Given the description of an element on the screen output the (x, y) to click on. 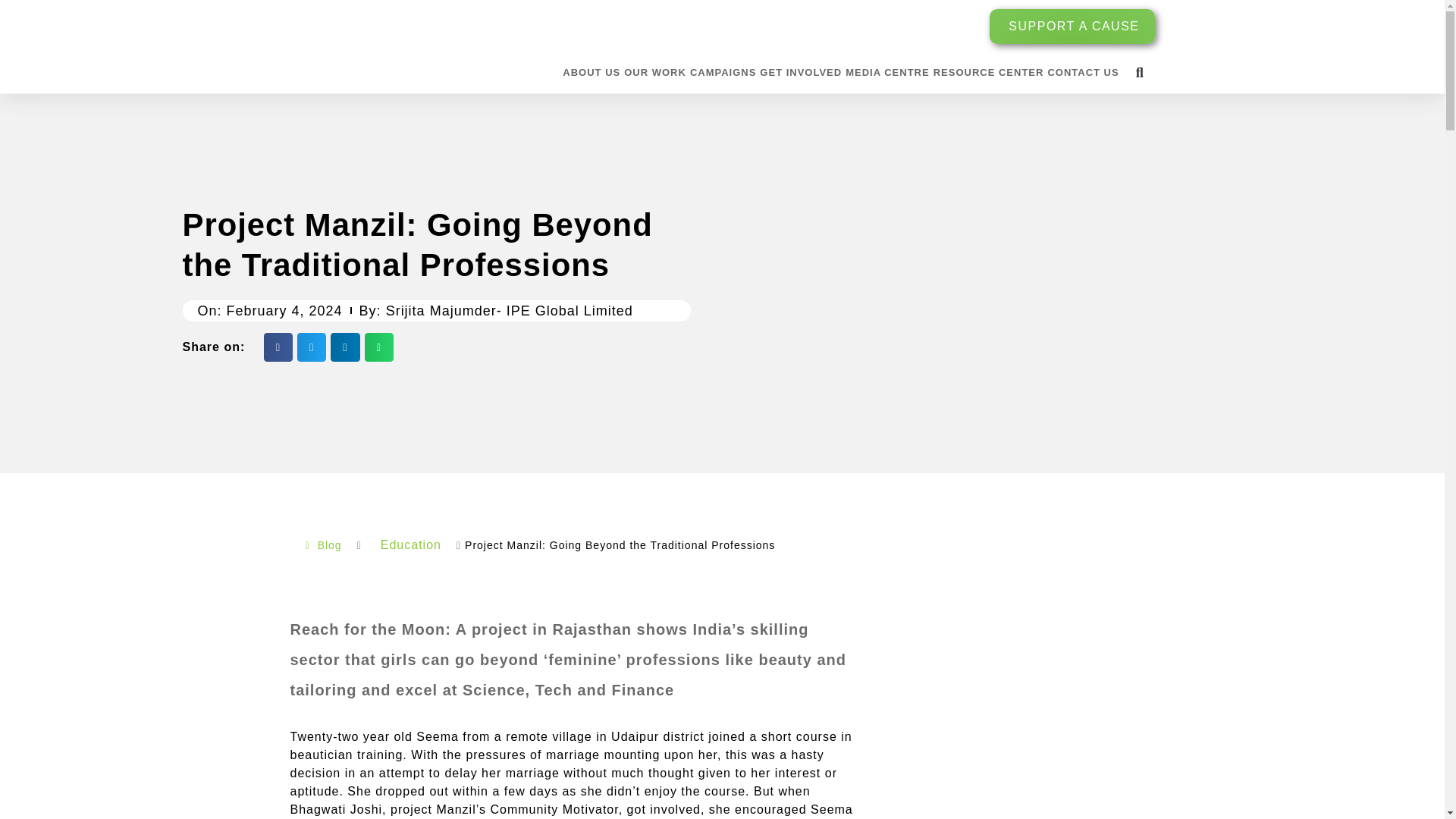
GET INVOLVED (800, 72)
SUPPORT A CAUSE (1072, 26)
OUR WORK (654, 72)
CAMPAIGNS (722, 72)
ABOUT US (591, 72)
